Given the description of an element on the screen output the (x, y) to click on. 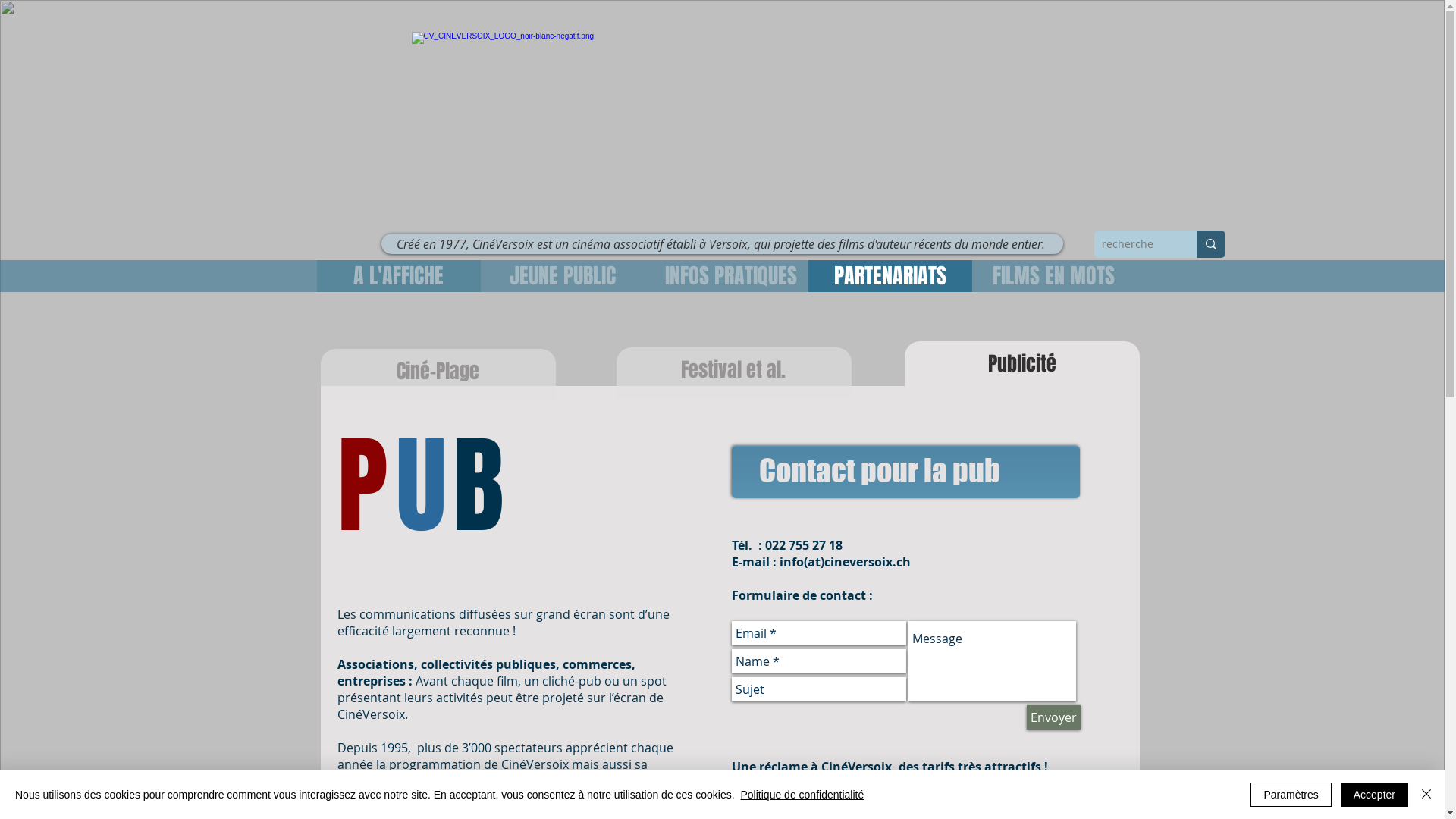
Festival et al. Element type: text (732, 370)
A L'AFFICHE Element type: text (398, 275)
qui  Element type: text (763, 243)
INFOS PRATIQUES Element type: text (730, 275)
JEUNE PUBLIC Element type: text (562, 275)
Envoyer Element type: text (1053, 717)
FILMS EN MOTS Element type: text (1053, 275)
PARTENARIATS Element type: text (890, 275)
